Given the description of an element on the screen output the (x, y) to click on. 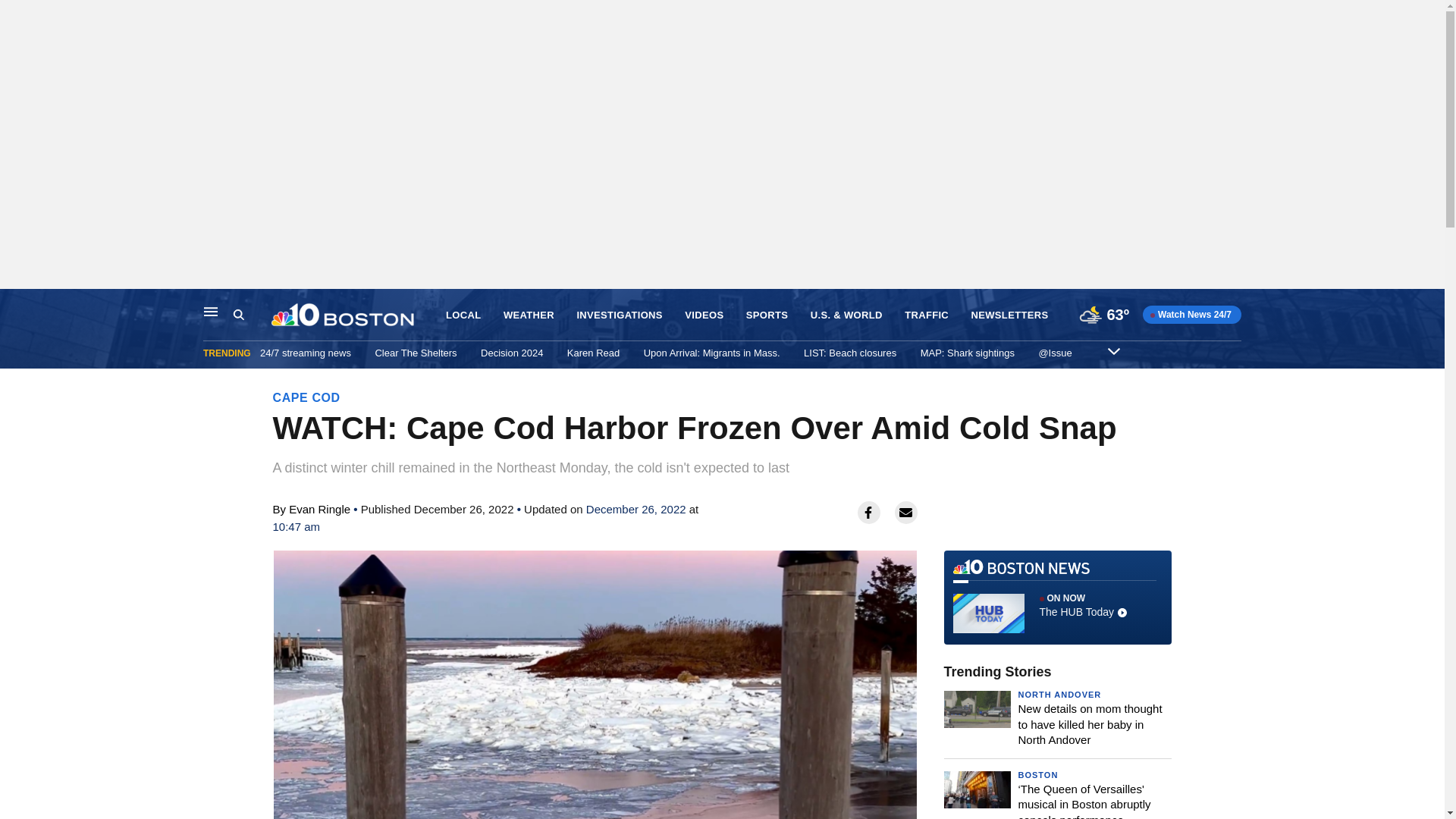
NEWSLETTERS (1009, 315)
MAP: Shark sightings (967, 352)
Search (252, 314)
WEATHER (528, 315)
Clear The Shelters (415, 352)
CAPE COD (306, 397)
TRAFFIC (926, 315)
Skip to content (16, 304)
VIDEOS (703, 315)
